Given the description of an element on the screen output the (x, y) to click on. 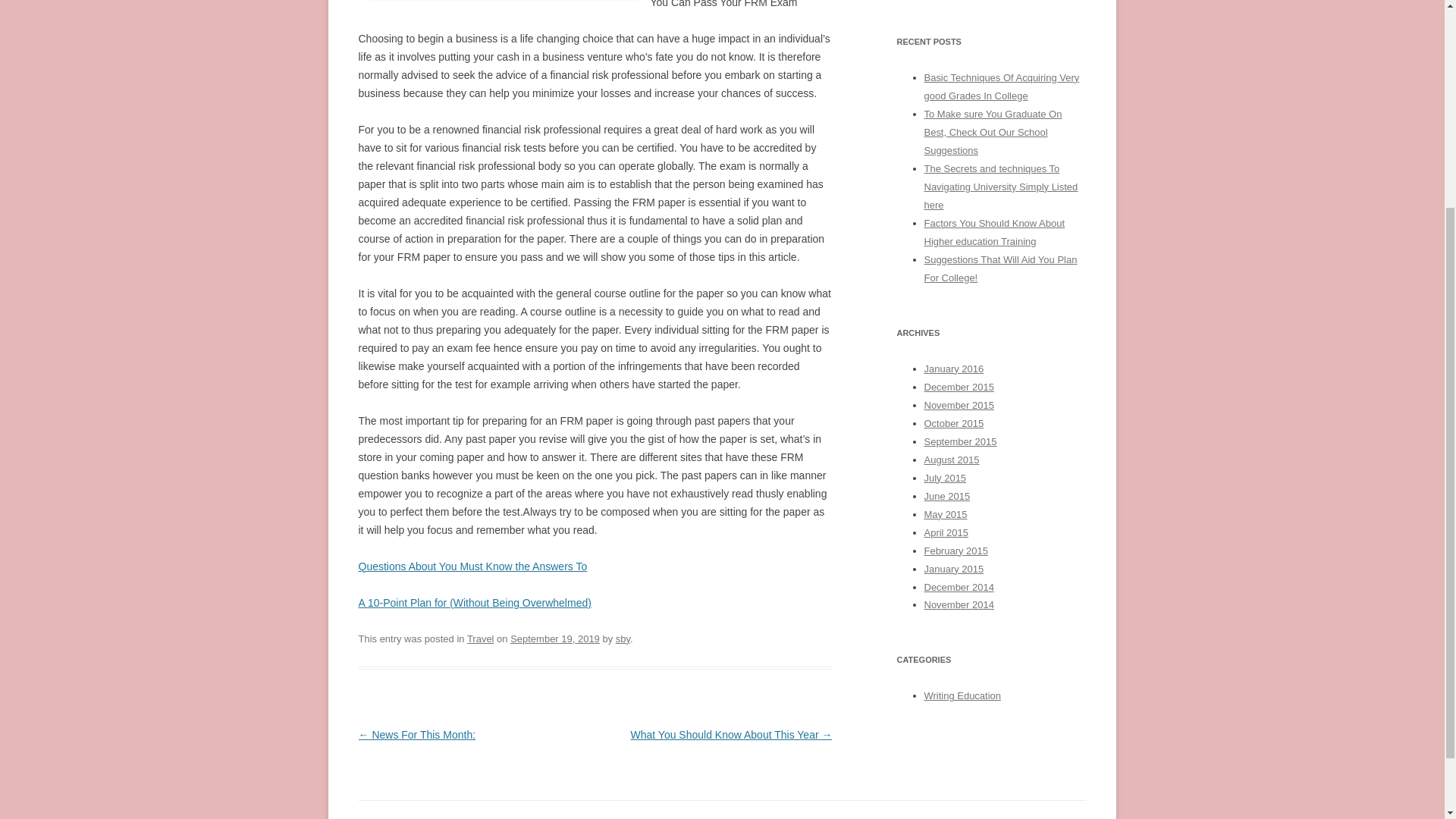
November 2014 (957, 604)
June 2015 (946, 496)
September 19, 2019 (555, 638)
Travel (481, 638)
September 2015 (959, 441)
Questions About You Must Know the Answers To (472, 566)
7:02 pm (555, 638)
May 2015 (944, 514)
Basic Techniques Of Acquiring Very good Grades In College (1000, 86)
